Given the description of an element on the screen output the (x, y) to click on. 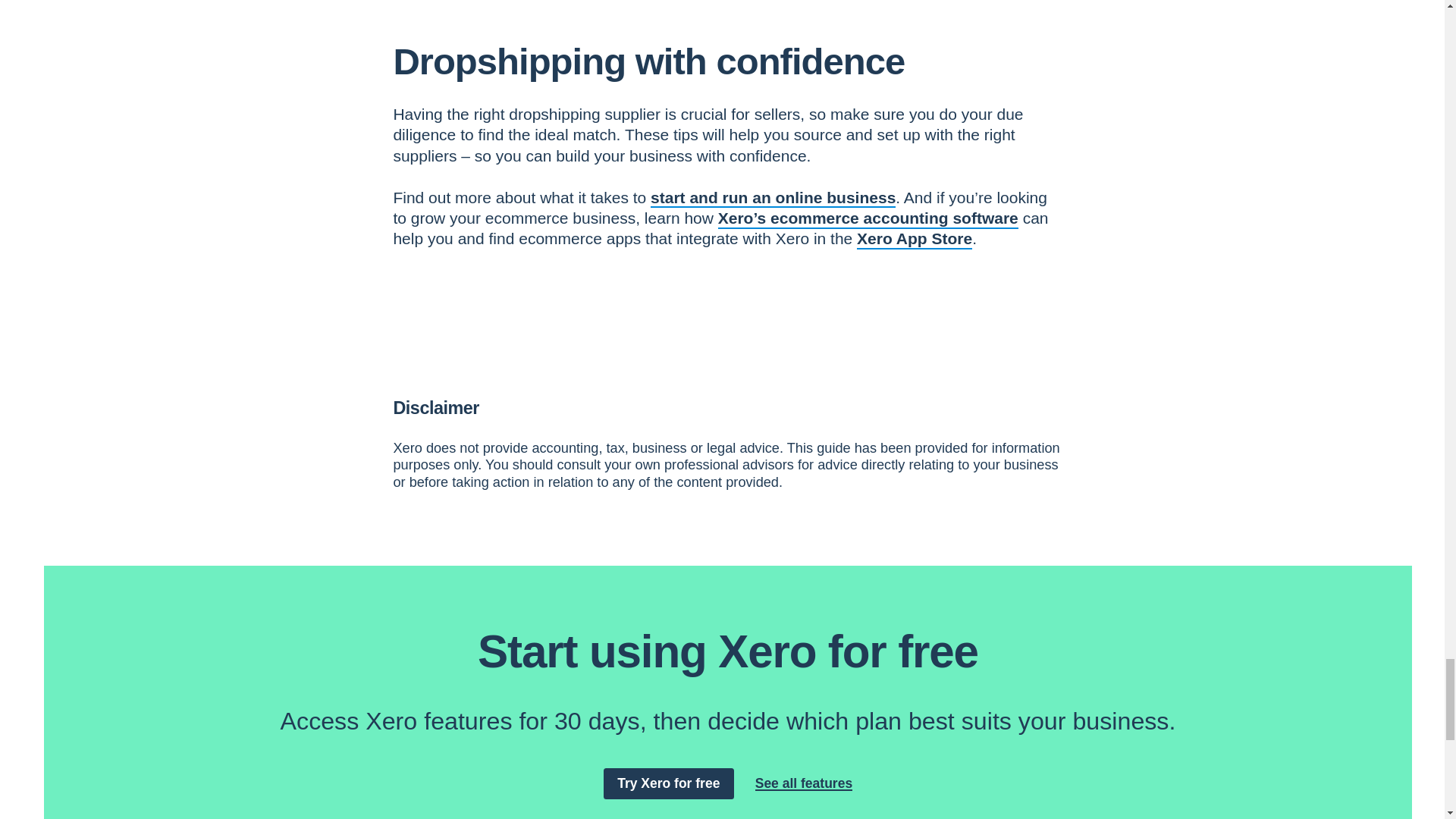
start and run an online business (772, 197)
See all features (803, 783)
Xero App Store (914, 238)
Try Xero for free (668, 783)
